Given the description of an element on the screen output the (x, y) to click on. 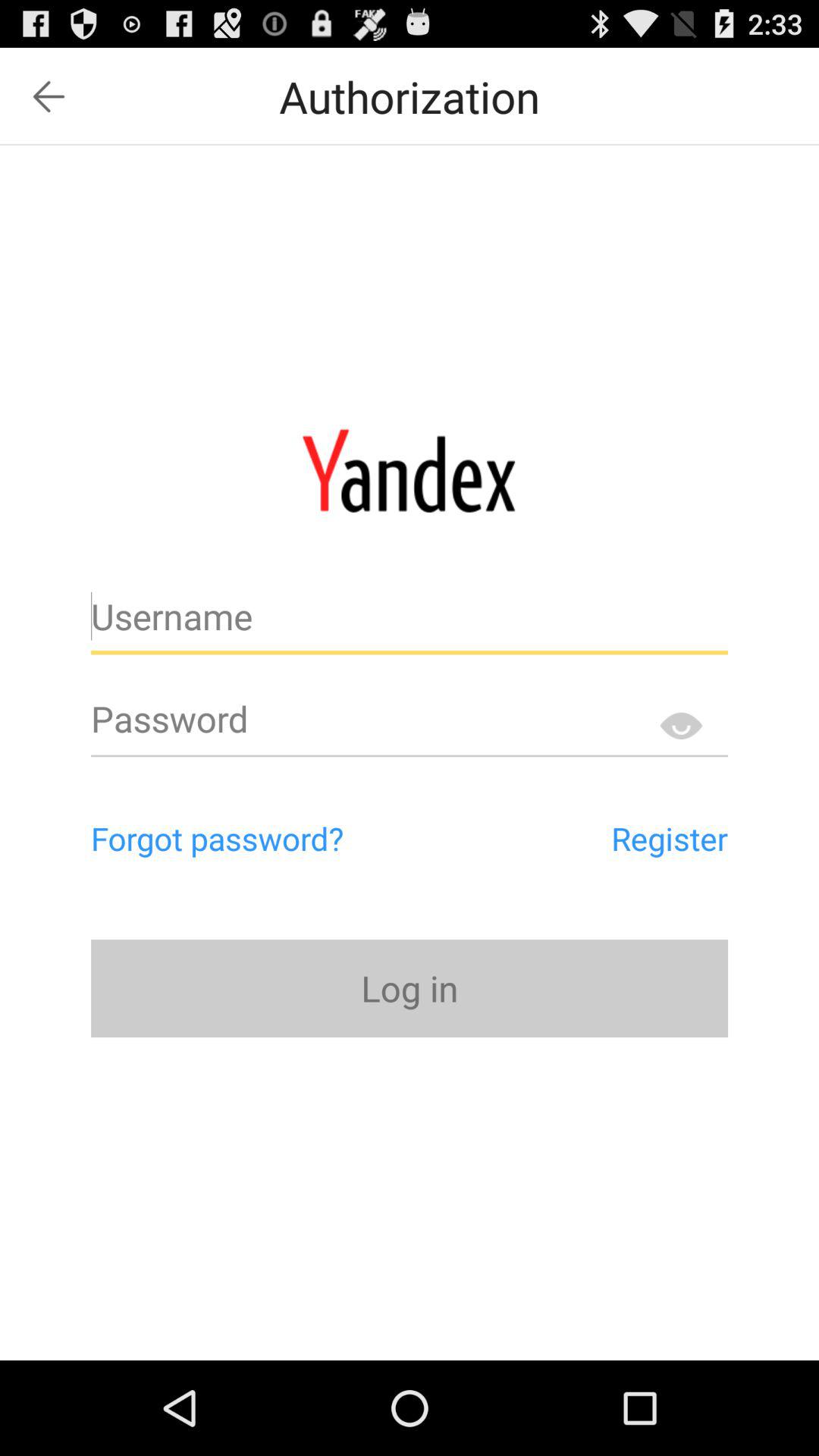
turn off icon to the right of the forgot password? (600, 837)
